Given the description of an element on the screen output the (x, y) to click on. 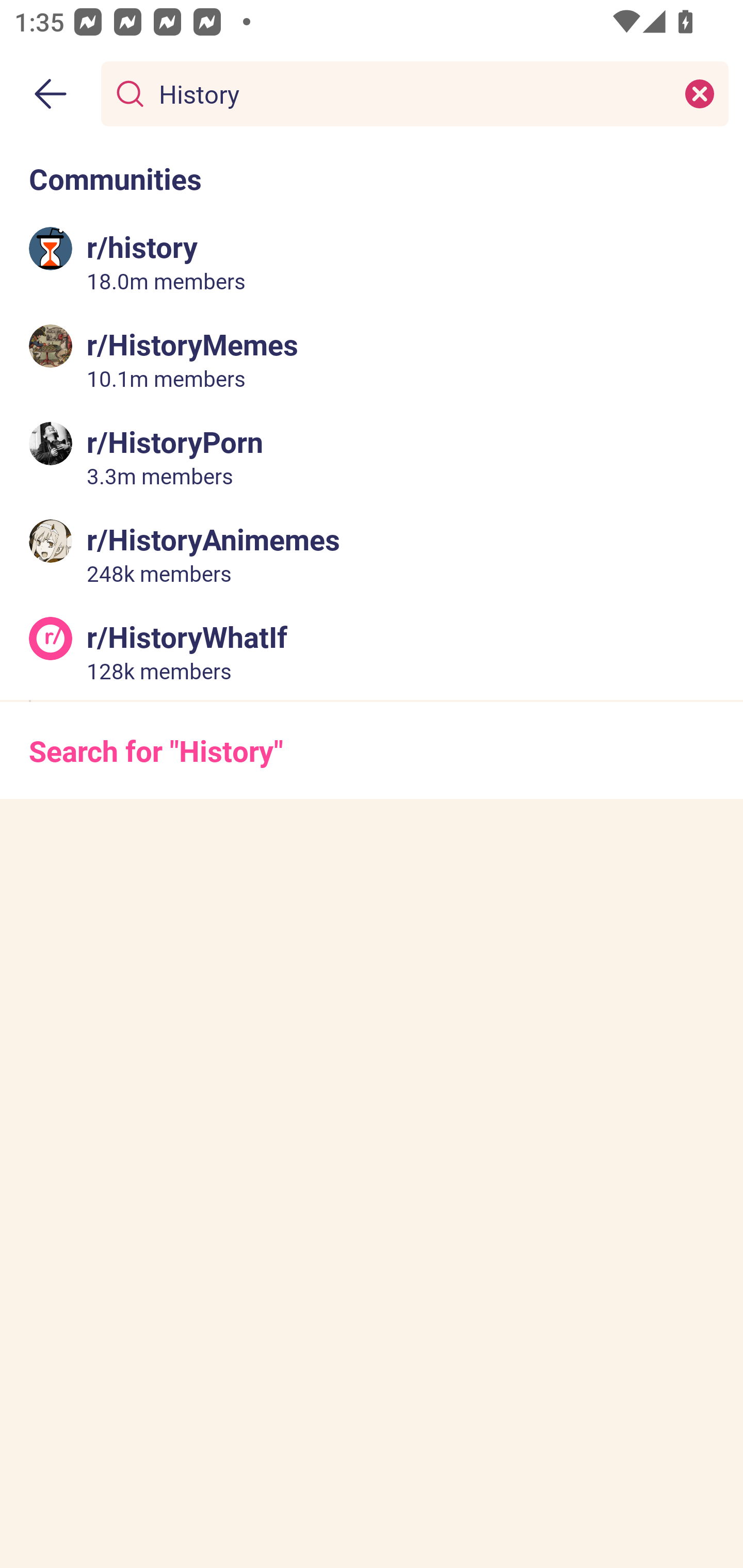
Back (50, 93)
History (410, 93)
Clear search (699, 93)
r/history 18.0m members 18.0 million members (371, 261)
r/HistoryMemes 10.1m members 10.1 million members (371, 358)
r/HistoryPorn 3.3m members 3.3 million members (371, 455)
r/HistoryWhatIf 128k members 128 thousand members (371, 650)
Search for "History" (371, 750)
